Given the description of an element on the screen output the (x, y) to click on. 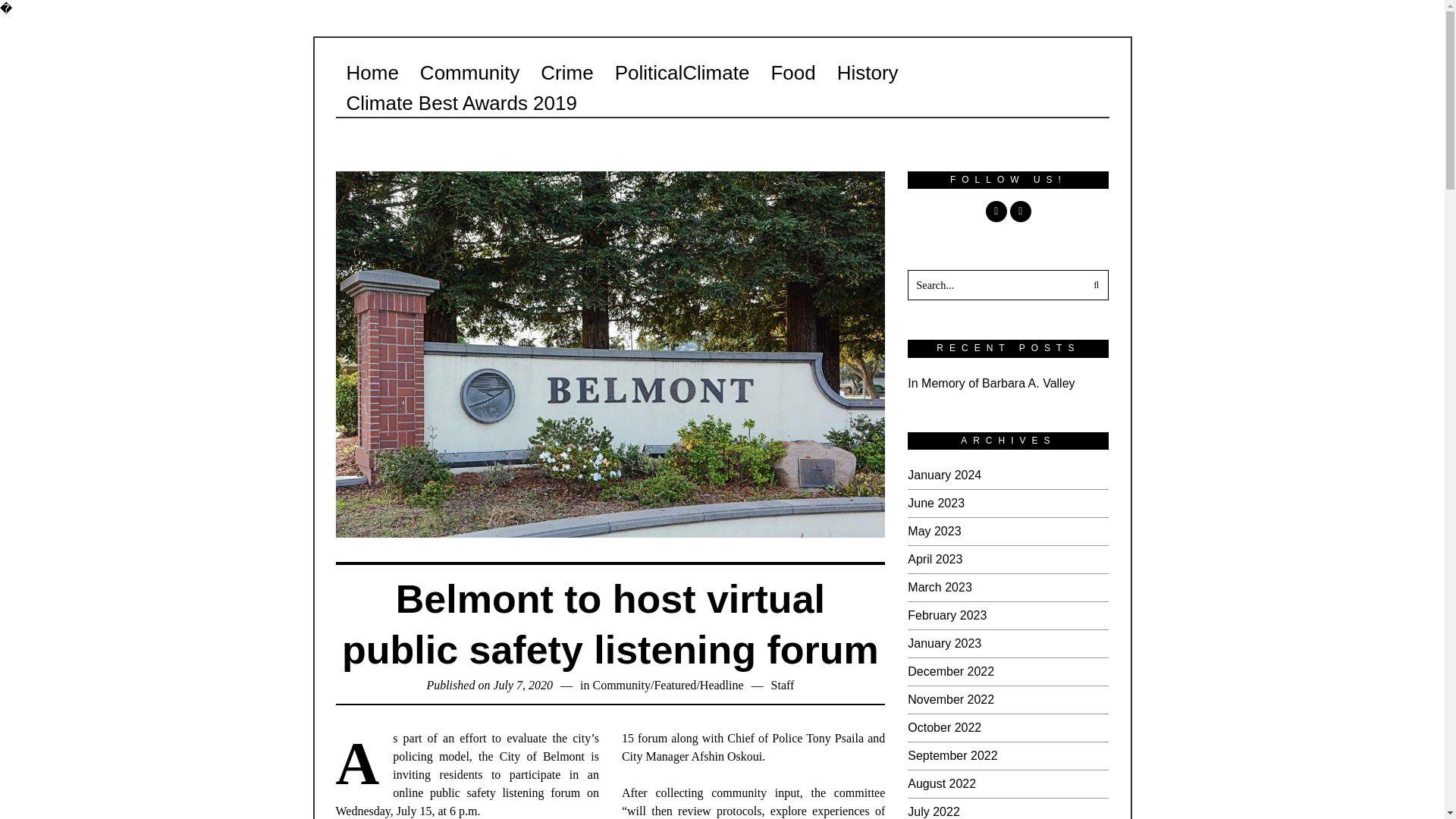
PoliticalClimate (682, 72)
Climate Best Awards 2019 (460, 102)
July 2022 (933, 811)
Community (620, 684)
January 2023 (944, 643)
December 2022 (950, 671)
November 2022 (950, 698)
Go (1093, 285)
April 2023 (934, 558)
Posts by Staff (782, 684)
